Given the description of an element on the screen output the (x, y) to click on. 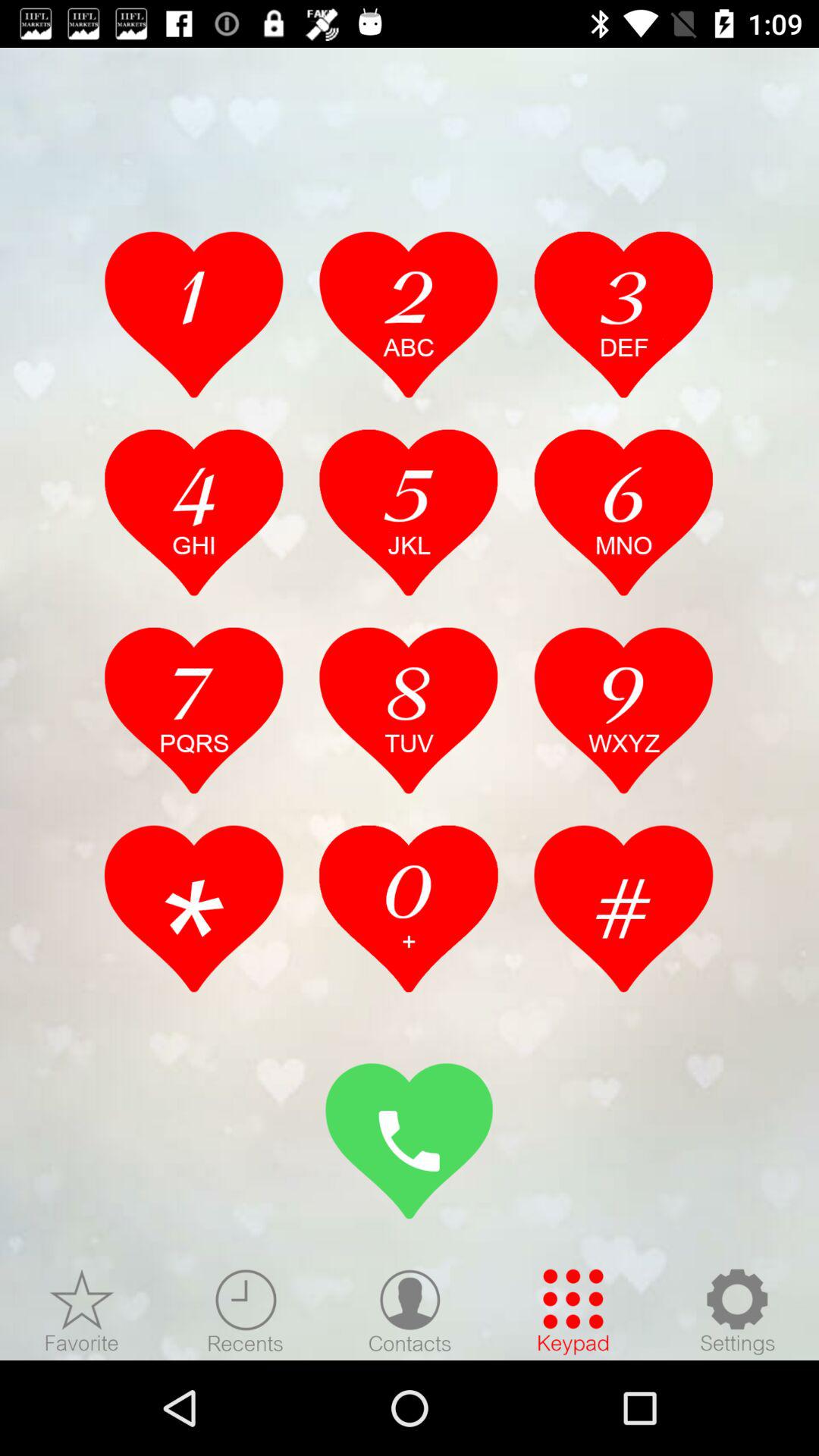
go to favorite (81, 1311)
